Given the description of an element on the screen output the (x, y) to click on. 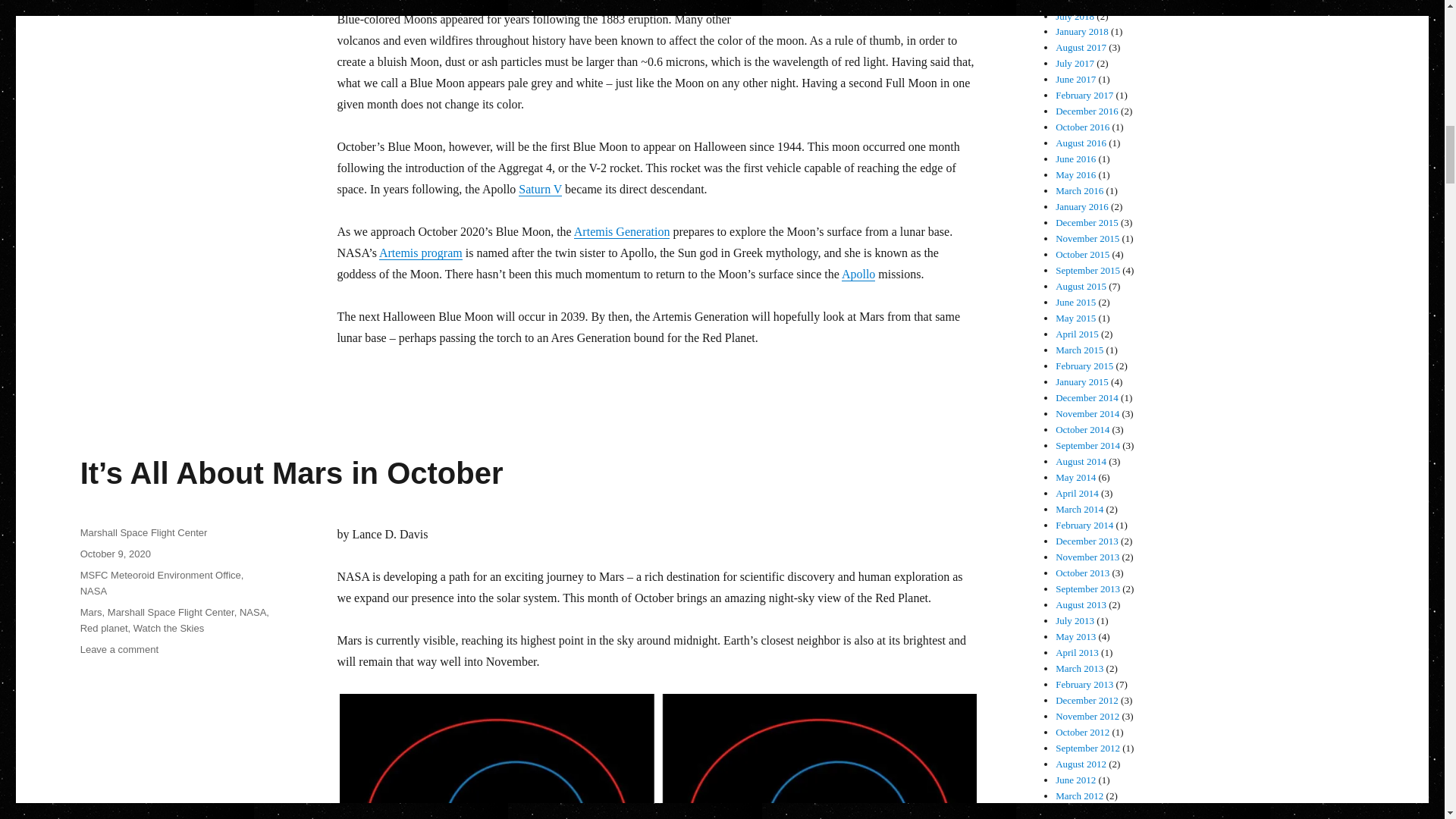
NASA (253, 612)
Marshall Space Flight Center (144, 532)
Saturn V (540, 188)
October 9, 2020 (115, 553)
NASA (93, 591)
Apollo (858, 273)
Mars (90, 612)
Artemis program (420, 252)
Artemis Generation (621, 231)
MSFC Meteoroid Environment Office (160, 574)
